Given the description of an element on the screen output the (x, y) to click on. 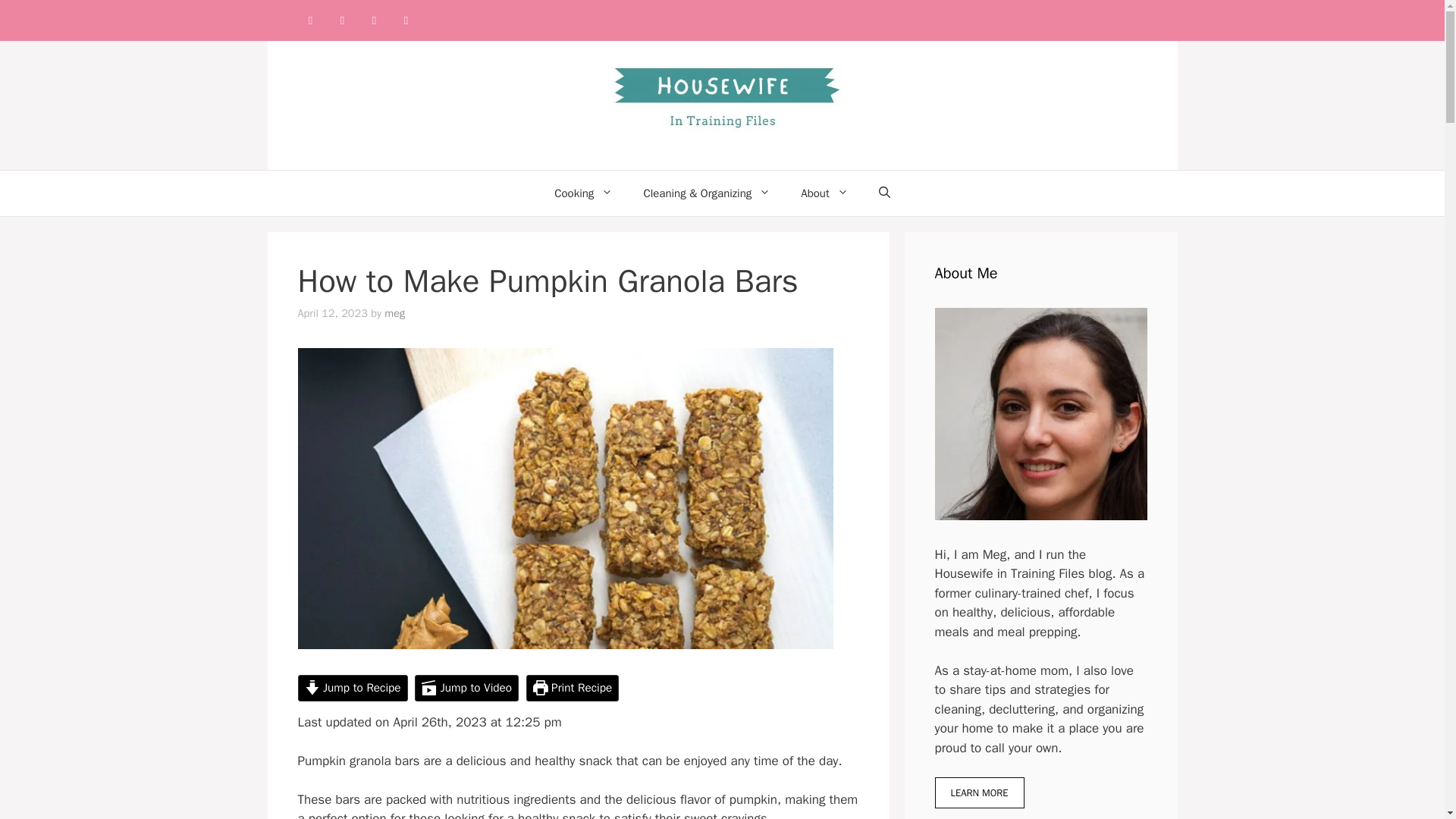
About (824, 193)
Cooking (582, 193)
Twitter (406, 20)
Facebook (310, 20)
View all posts by meg (394, 313)
Instagram (342, 20)
Pinterest (374, 20)
